Given the description of an element on the screen output the (x, y) to click on. 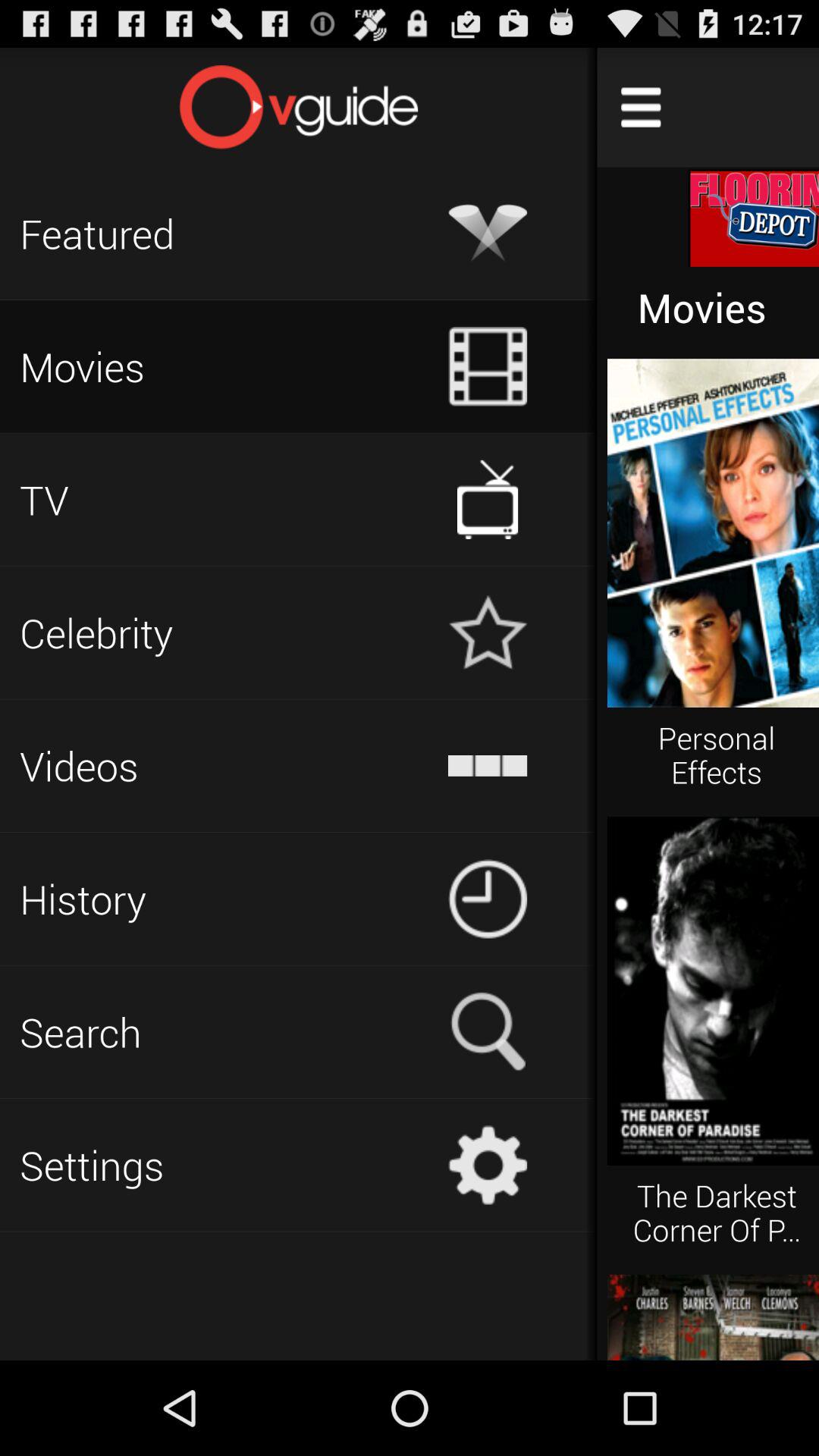
go to home page (298, 107)
